Given the description of an element on the screen output the (x, y) to click on. 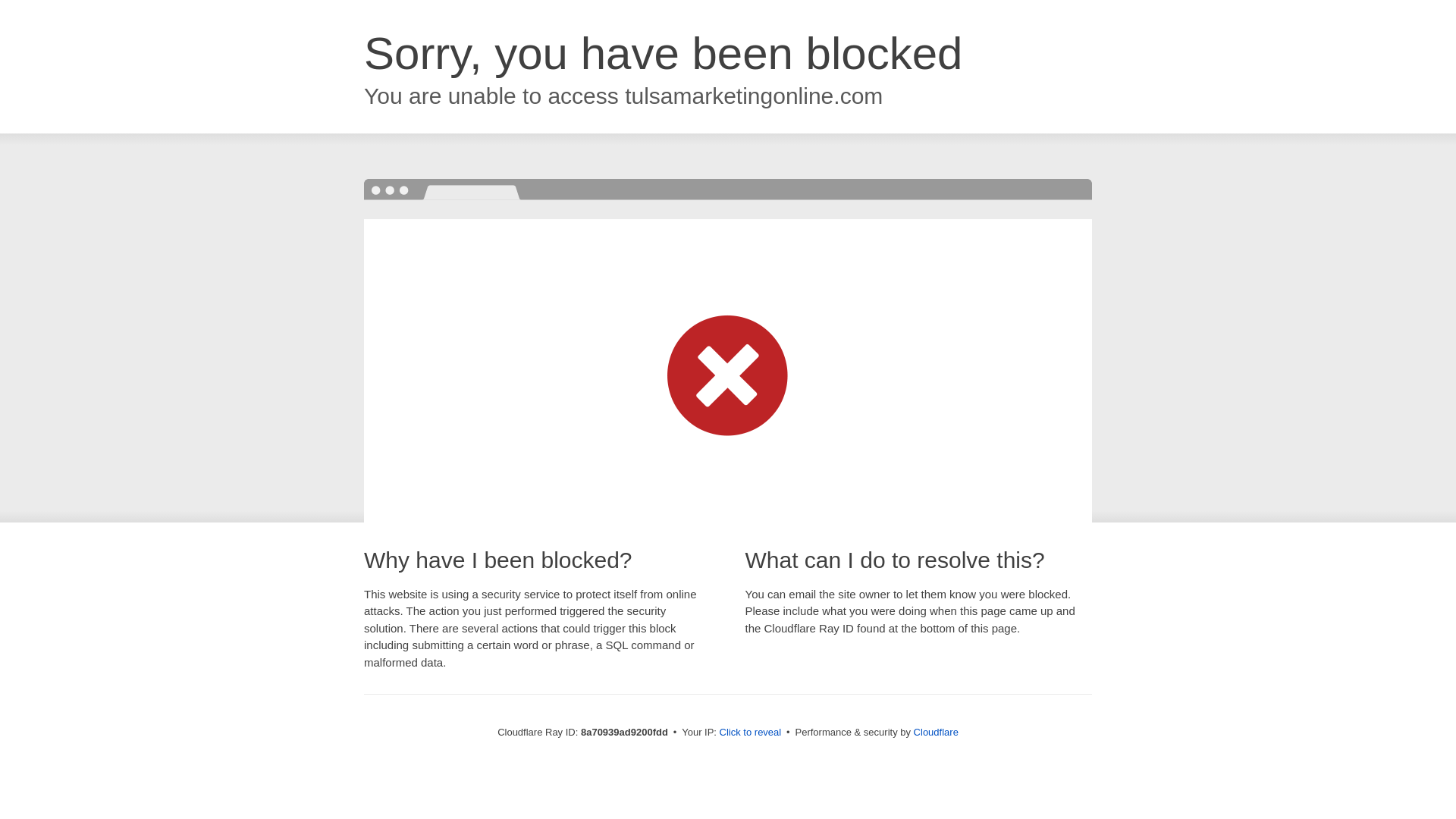
Cloudflare (936, 731)
Click to reveal (750, 732)
